Given the description of an element on the screen output the (x, y) to click on. 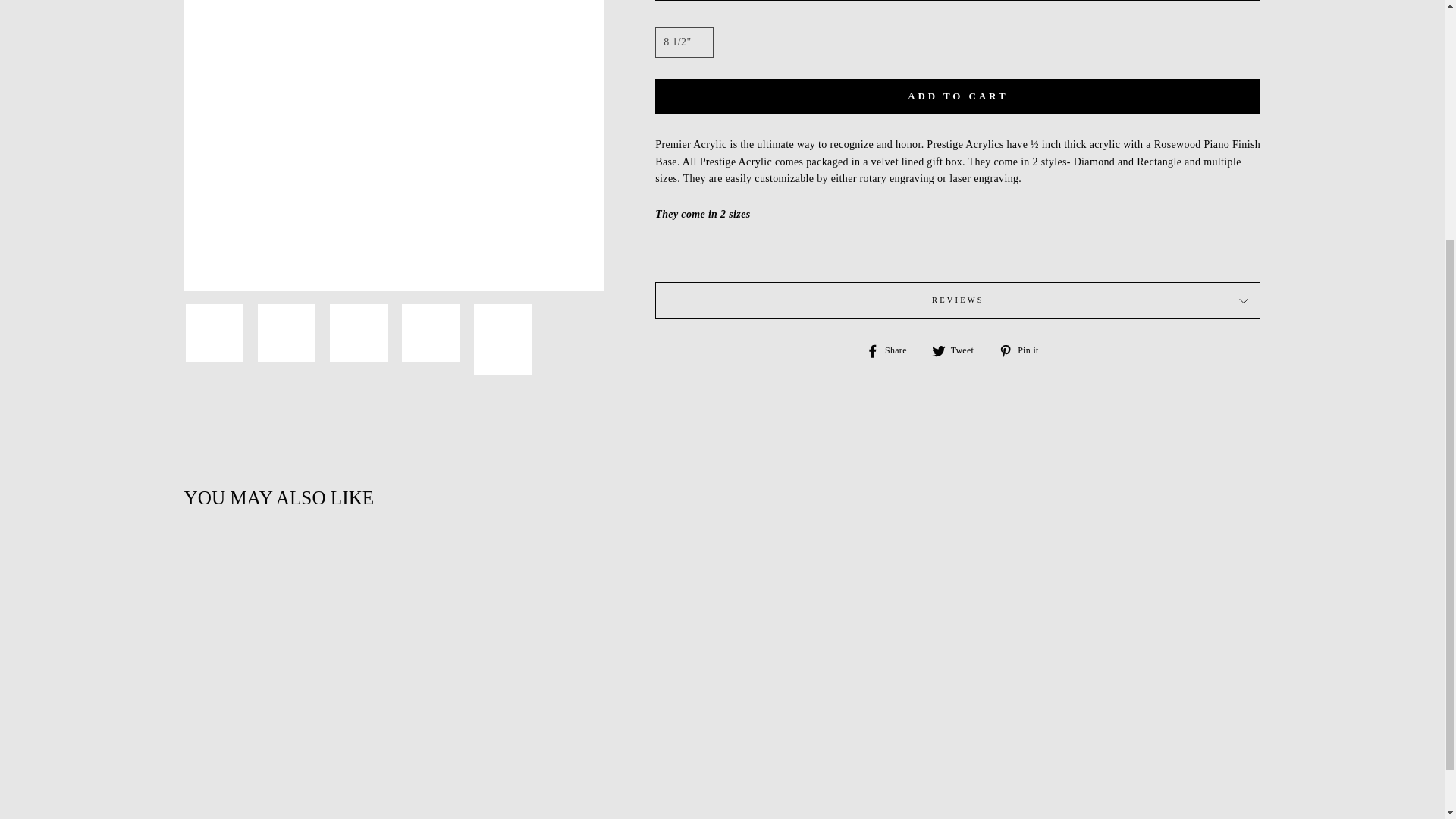
Tweet on Twitter (958, 350)
Pin on Pinterest (1023, 350)
Share on Facebook (892, 350)
